Given the description of an element on the screen output the (x, y) to click on. 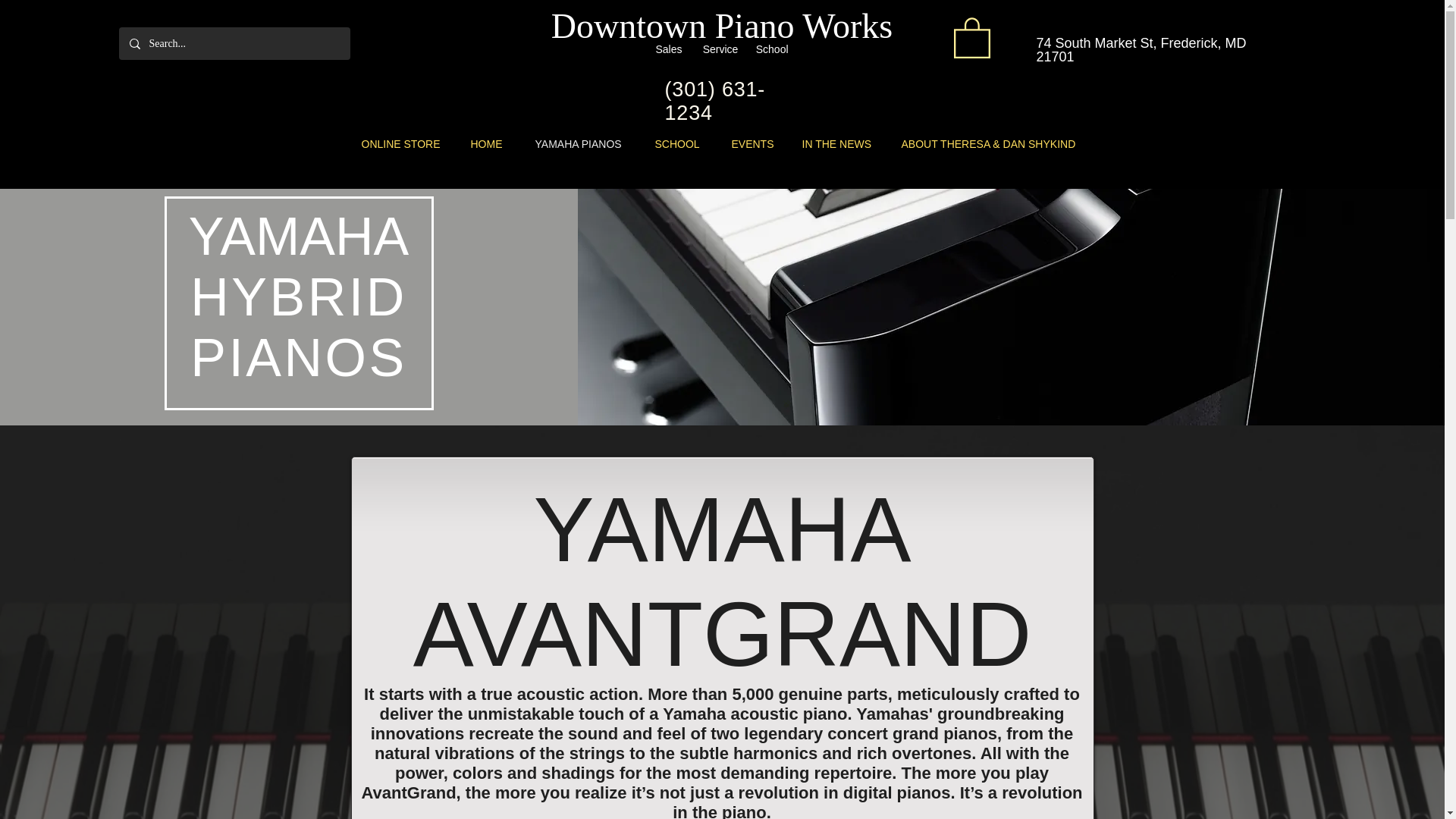
YAMAHA PIANOS (582, 144)
ONLINE STORE (405, 144)
IN THE NEWS (839, 144)
74 South Market St, Frederick, MD 21701 (1140, 50)
Downtown Piano Works (721, 25)
HOME (492, 144)
SCHOOL (681, 144)
EVENTS (755, 144)
